Given the description of an element on the screen output the (x, y) to click on. 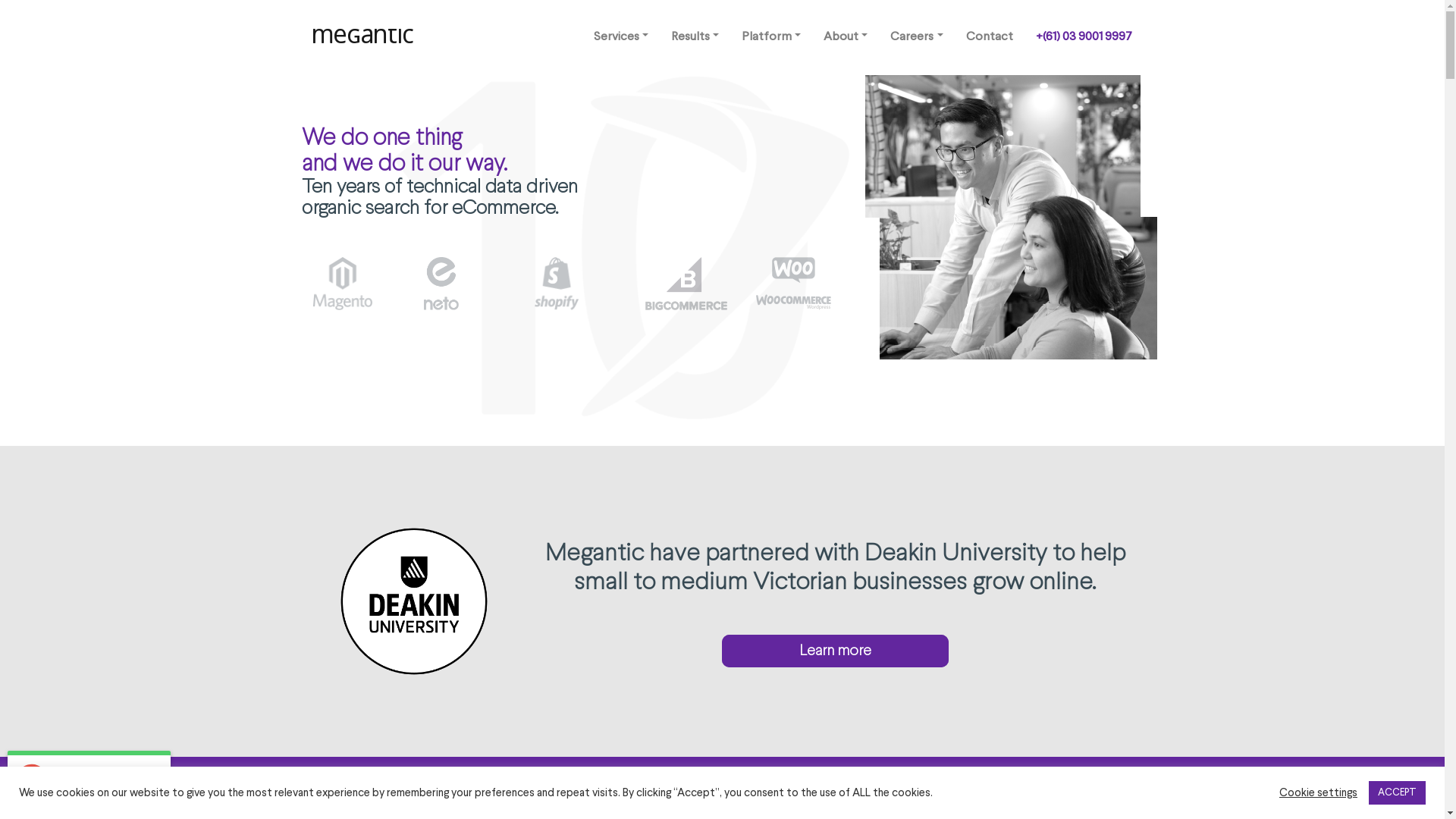
+(61) 03 9001 9997 Element type: text (1082, 37)
ACCEPT Element type: text (1396, 792)
Results Element type: text (694, 37)
Careers Element type: text (915, 37)
Cookie settings Element type: text (1318, 792)
Learn more Element type: text (834, 650)
Services Element type: text (620, 37)
Platform Element type: text (771, 37)
Contact Element type: text (988, 37)
megantic Element type: text (363, 37)
About Element type: text (845, 37)
